Given the description of an element on the screen output the (x, y) to click on. 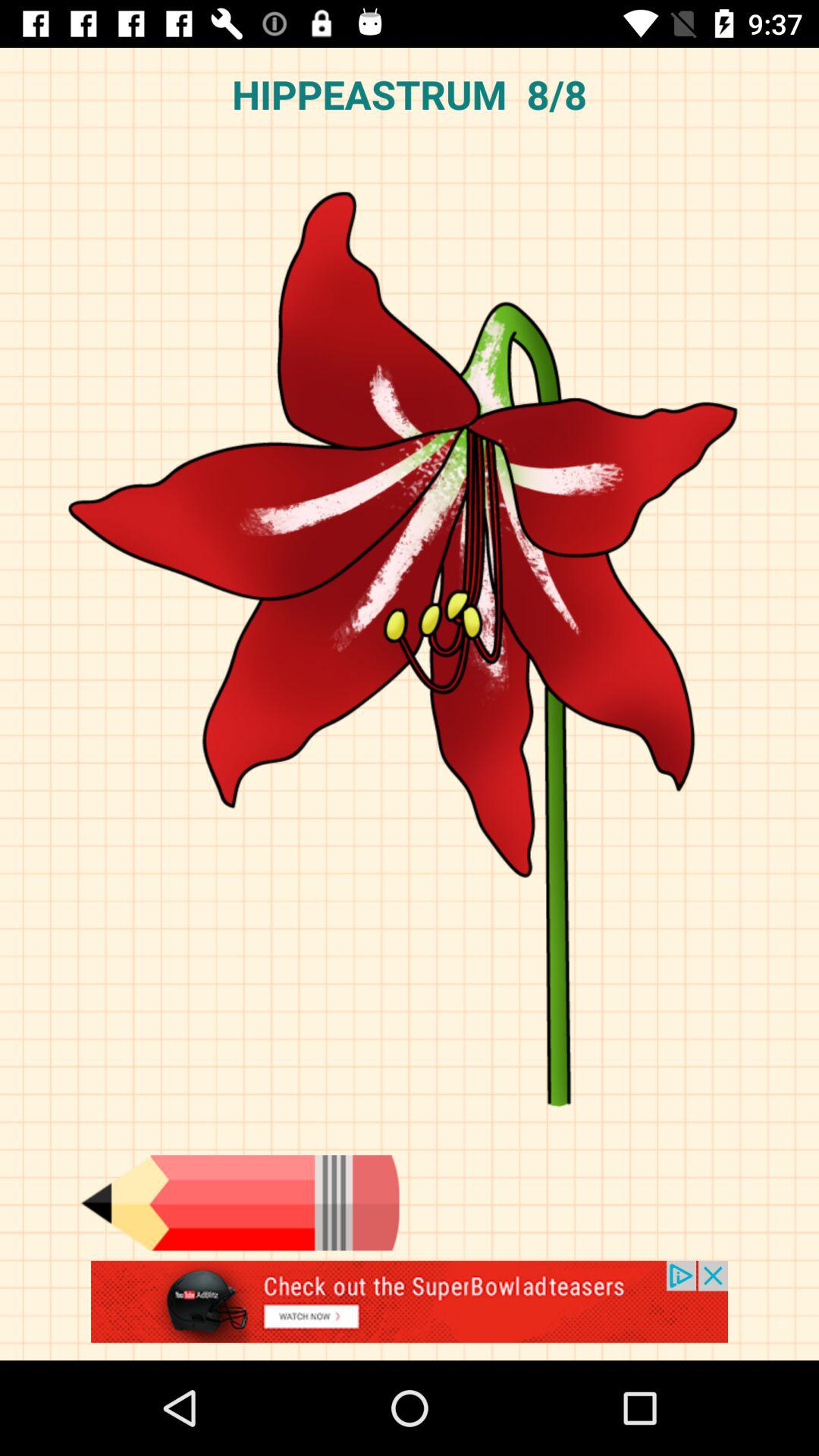
advertisement (409, 1310)
